Given the description of an element on the screen output the (x, y) to click on. 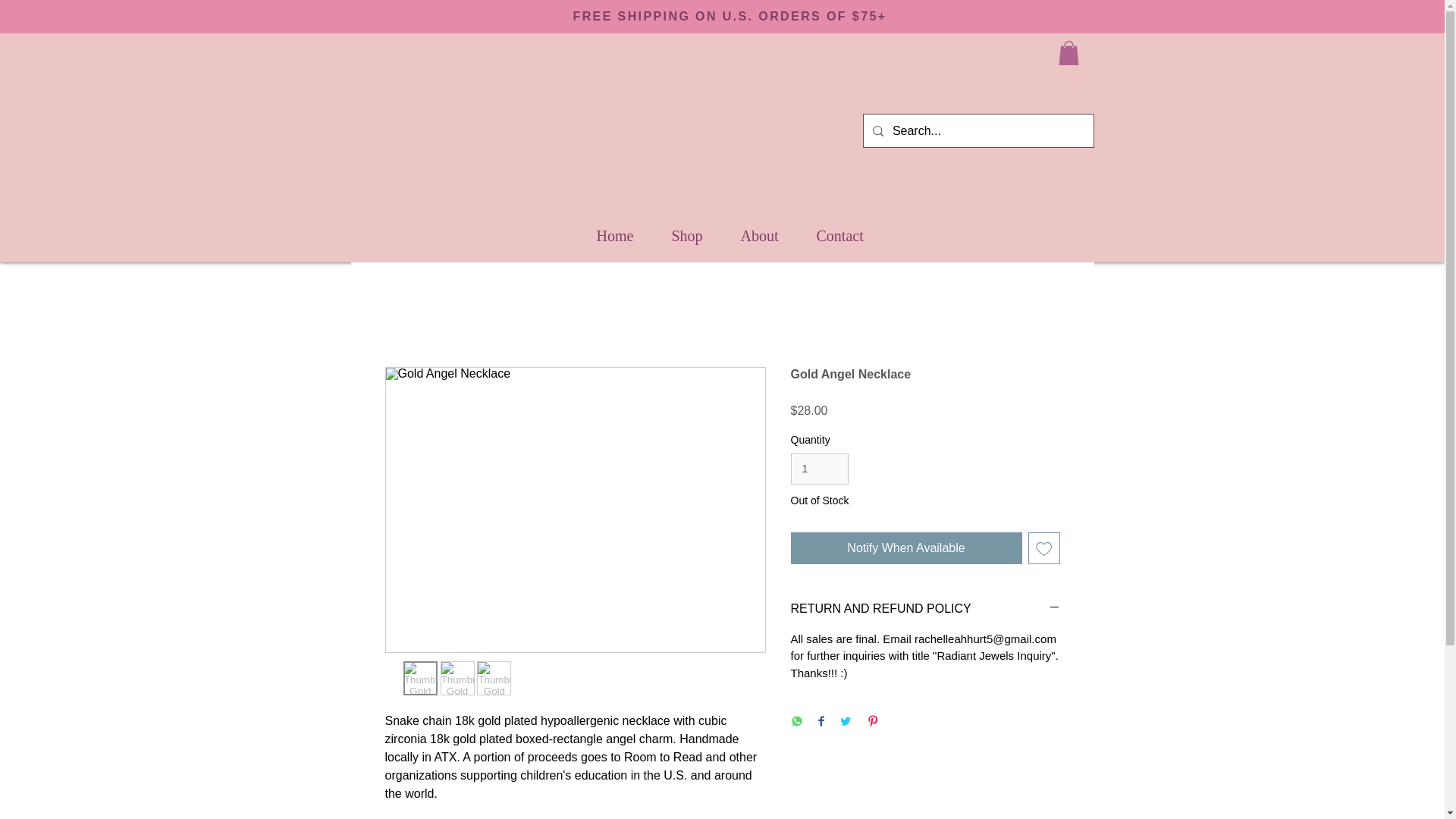
Notify When Available (906, 548)
Shop (686, 235)
Contact (839, 235)
Home (615, 235)
1 (818, 468)
About (759, 235)
RETURN AND REFUND POLICY (924, 608)
